Given the description of an element on the screen output the (x, y) to click on. 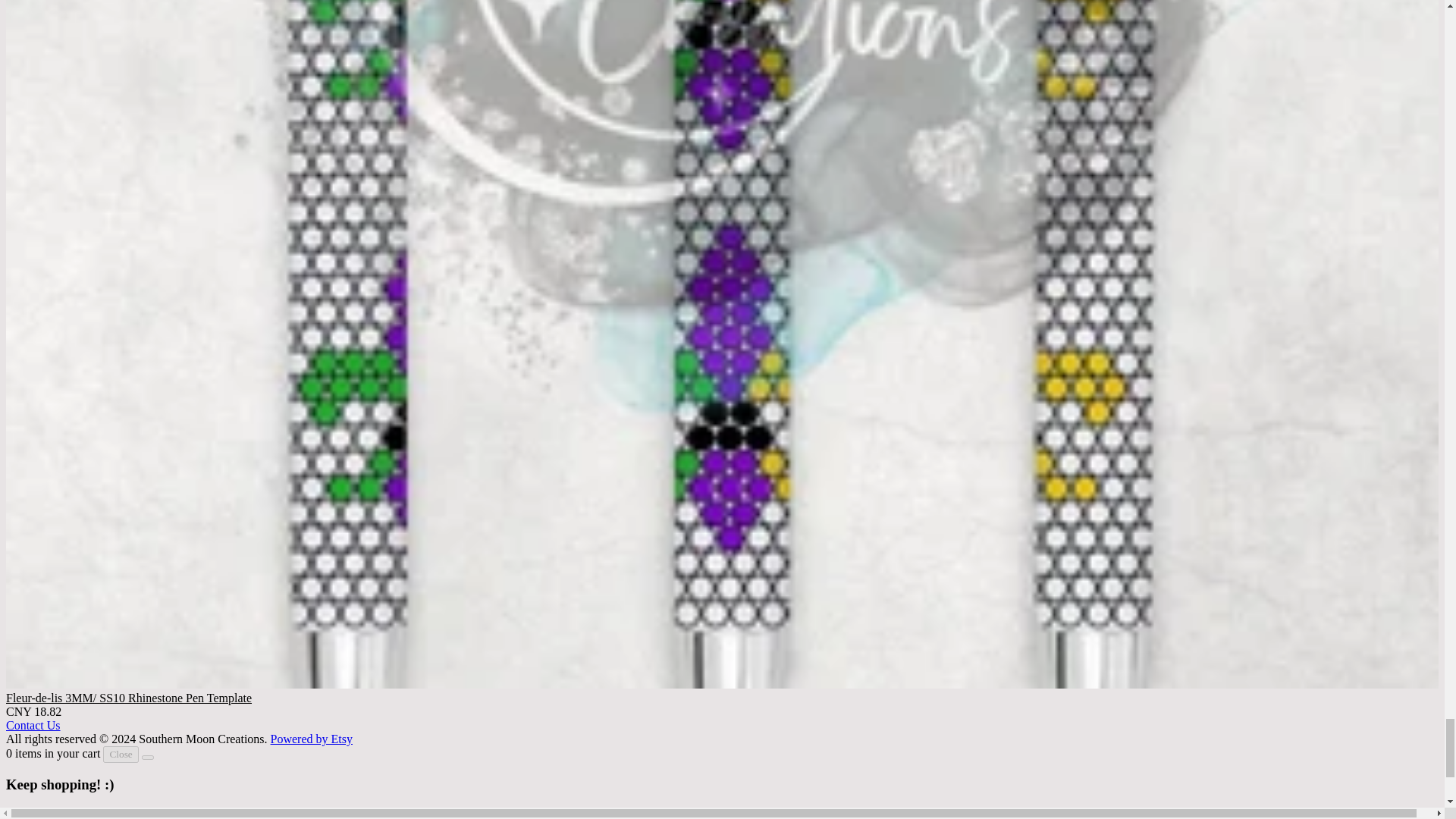
Powered by Etsy (311, 738)
Contact Us (33, 725)
Close (120, 754)
